Given the description of an element on the screen output the (x, y) to click on. 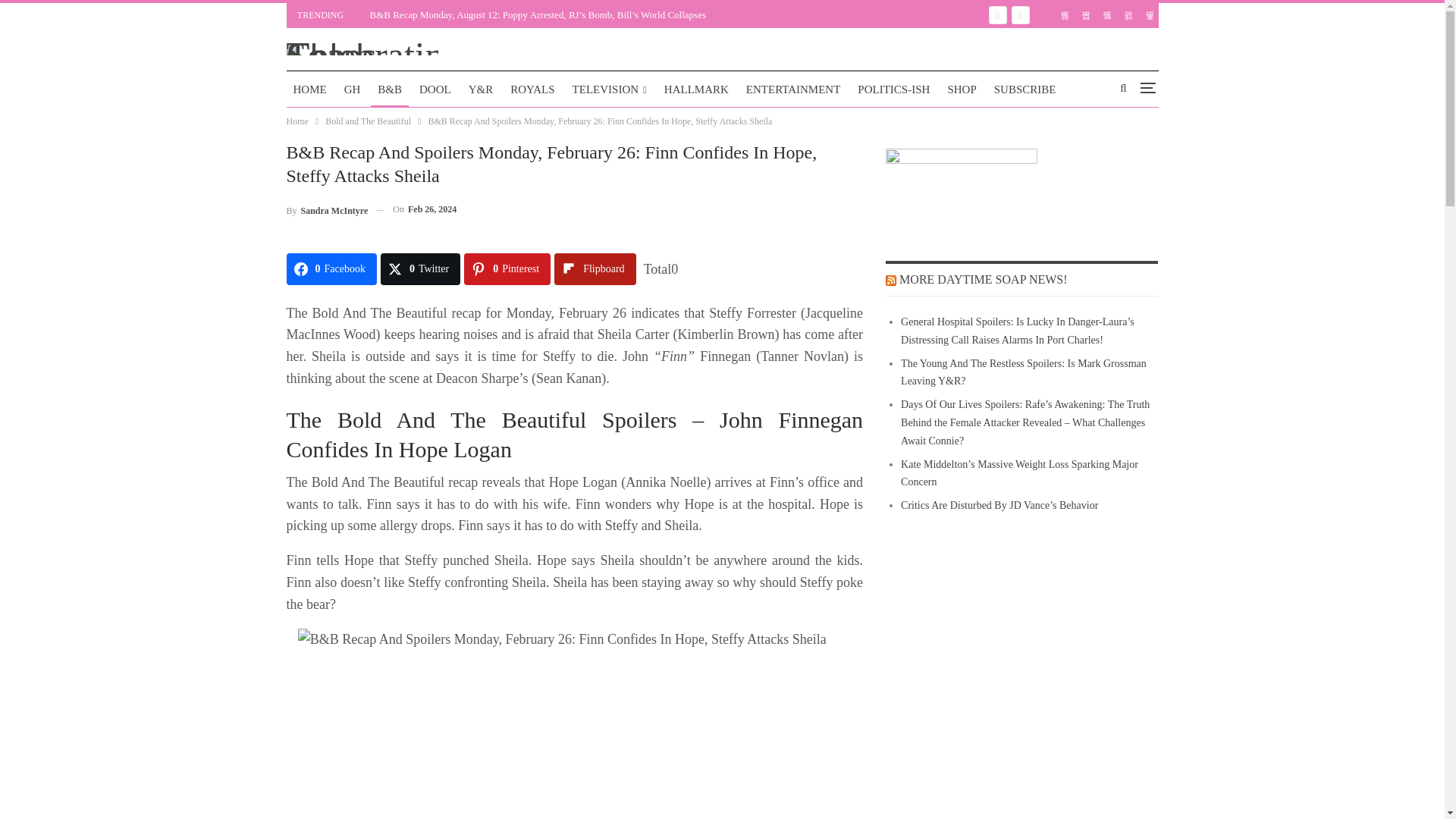
TELEVISION (609, 89)
HOME (309, 89)
ROYALS (531, 89)
Share on Twitter (420, 269)
DOOL (435, 89)
Share on Facebook (331, 269)
Browse Author Articles (327, 209)
Share on Pinterest (507, 269)
Total (660, 268)
Share on Flipboard (594, 269)
